Given the description of an element on the screen output the (x, y) to click on. 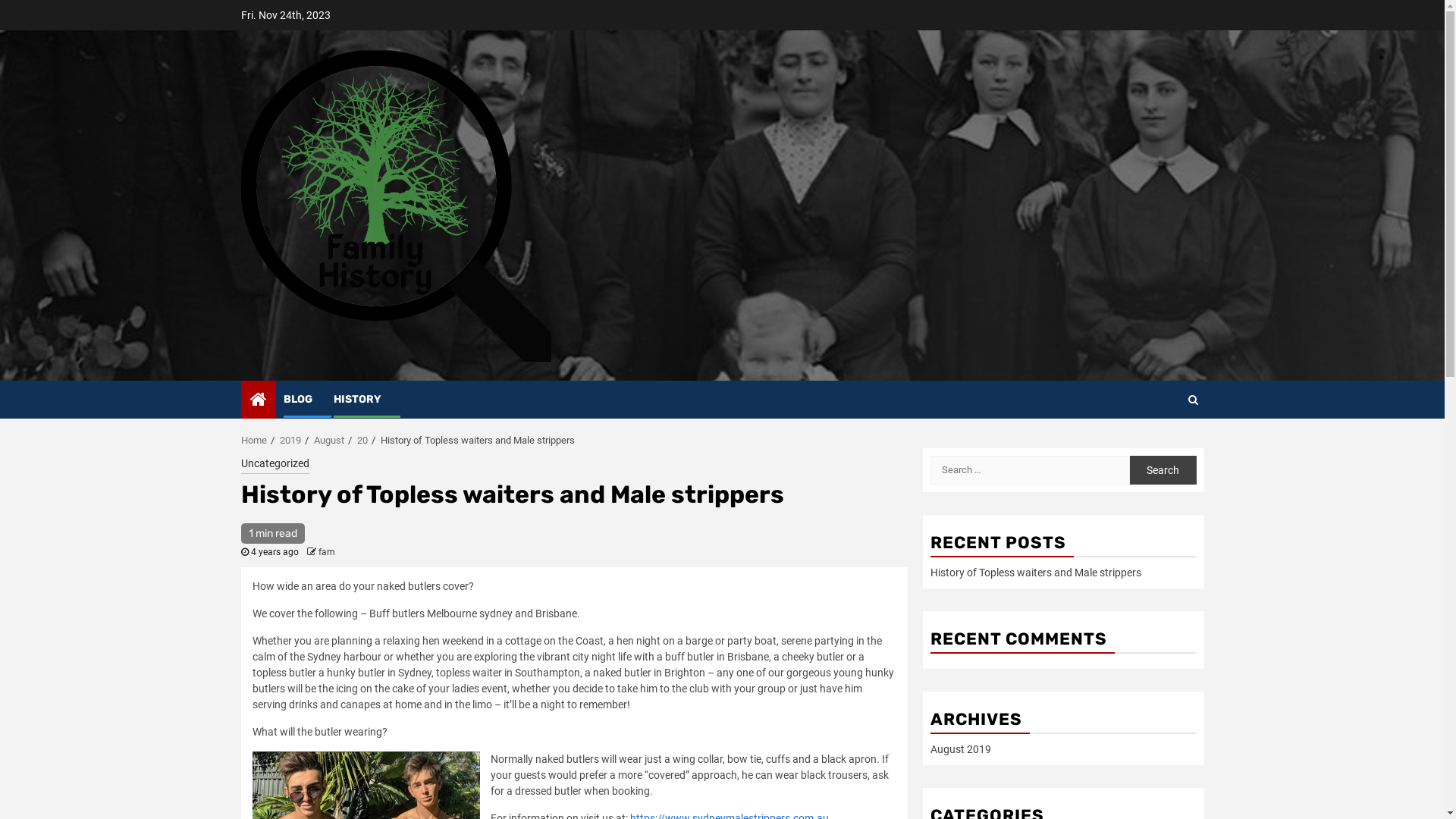
BLOG Element type: text (297, 398)
August Element type: text (328, 439)
Search Element type: text (1163, 444)
August 2019 Element type: text (959, 749)
Uncategorized Element type: text (275, 464)
20 Element type: text (361, 439)
Search Element type: hover (1192, 399)
fam Element type: text (326, 551)
History of Topless waiters and Male strippers Element type: text (1034, 572)
2019 Element type: text (289, 439)
Search Element type: text (1162, 469)
HISTORY Element type: text (357, 398)
Home Element type: text (253, 439)
